Given the description of an element on the screen output the (x, y) to click on. 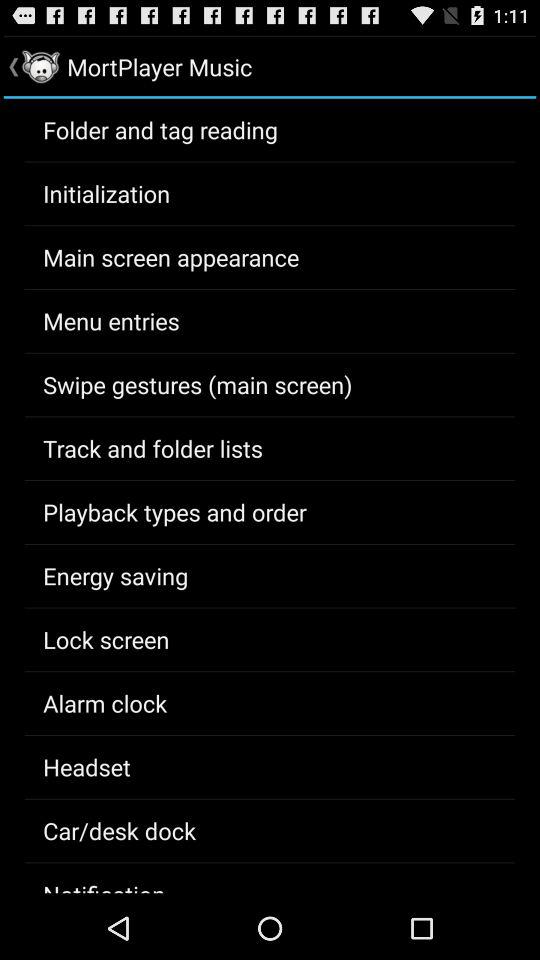
turn on item below the car/desk dock icon (104, 885)
